Given the description of an element on the screen output the (x, y) to click on. 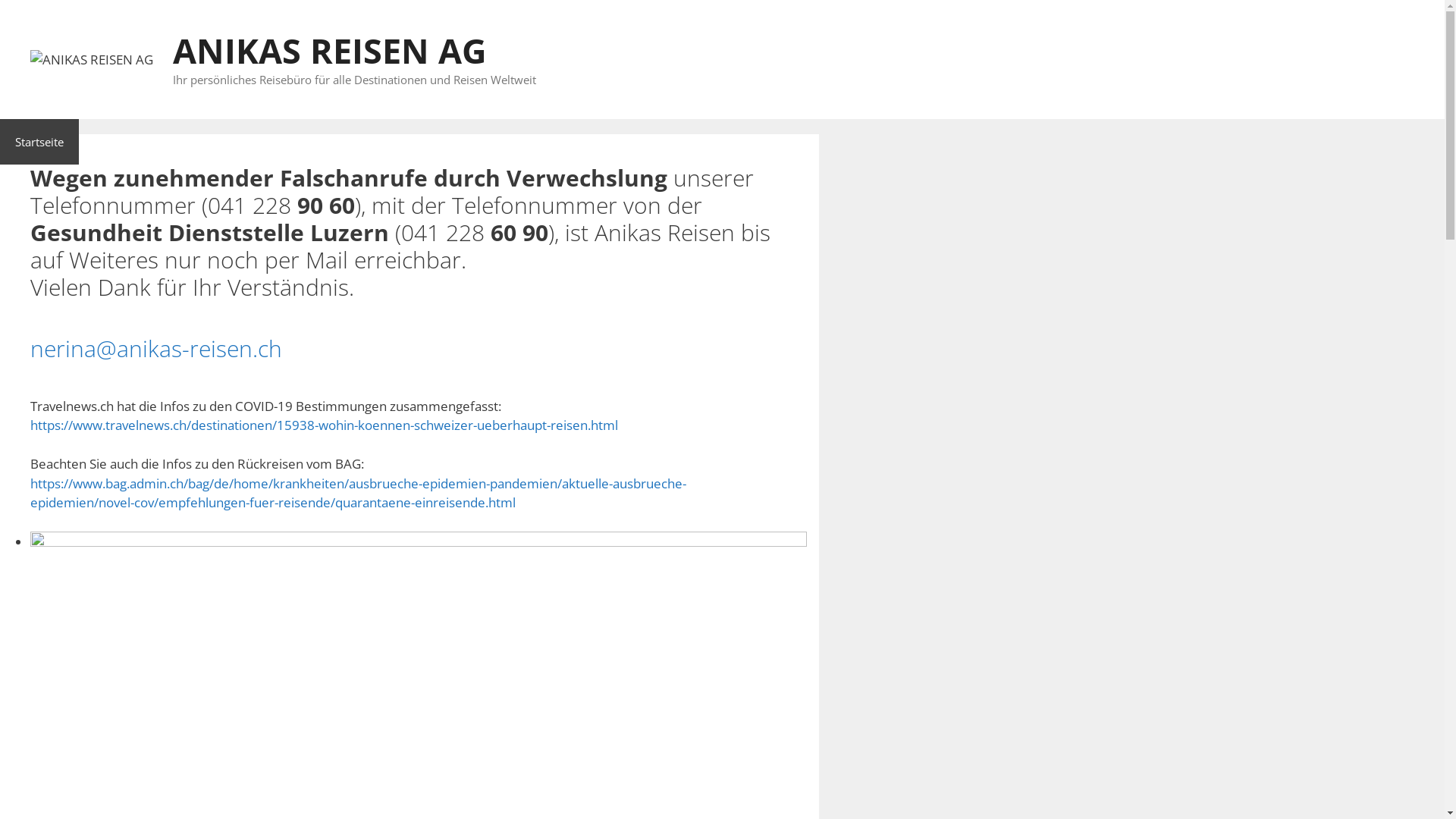
nerina@anikas-reisen.ch Element type: text (156, 347)
CORONA VIRUS Element type: text (534, 140)
ANIKAS REISEN AG Element type: text (329, 50)
Abschlussreisen Element type: text (418, 140)
Rundreisen Element type: text (214, 140)
ANIKAS REISEN AG Element type: hover (91, 59)
Kontakt Element type: text (629, 140)
Suchen Element type: text (37, 18)
Startseite Element type: text (39, 140)
Badeferien Element type: text (122, 140)
ANIKAS REISEN AG Element type: hover (91, 58)
